Given the description of an element on the screen output the (x, y) to click on. 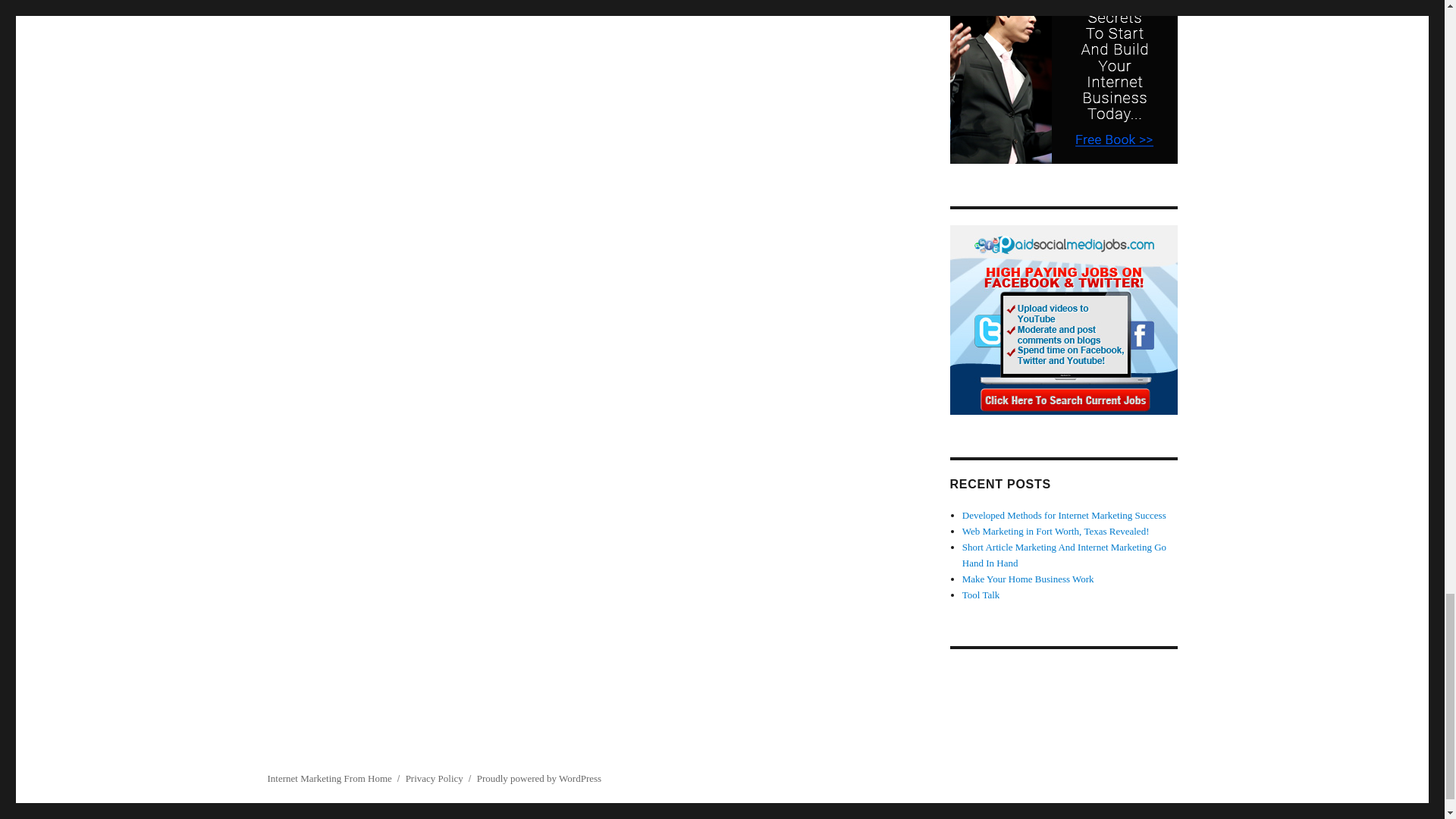
Web Marketing in Fort Worth, Texas Revealed! (1056, 531)
Make Your Home Business Work (1028, 578)
Developed Methods for Internet Marketing Success (1064, 514)
Privacy Policy (434, 778)
Tool Talk (981, 594)
Internet Marketing From Home (328, 778)
Proudly powered by WordPress (539, 778)
